Given the description of an element on the screen output the (x, y) to click on. 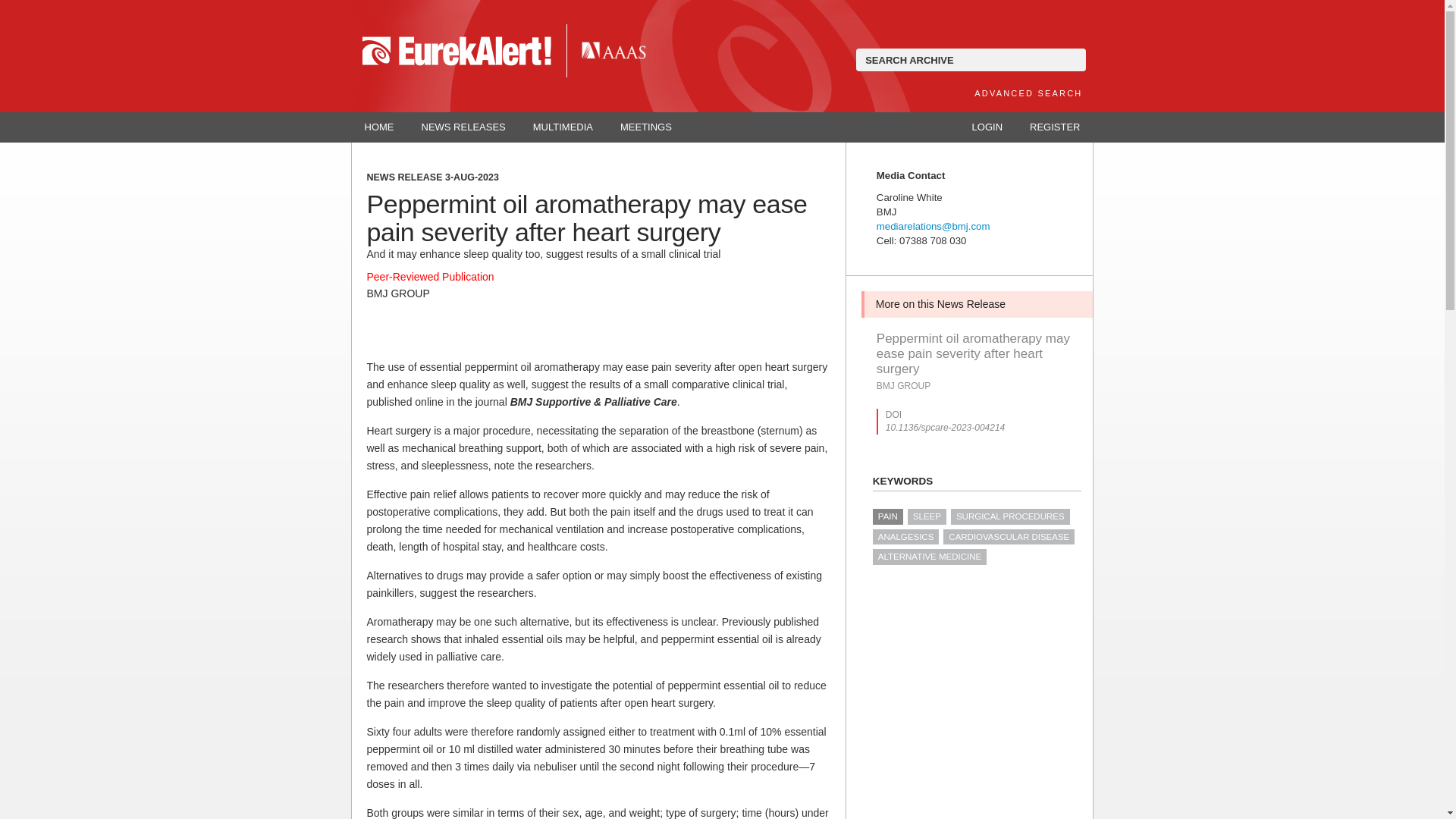
MEETINGS (646, 127)
LOGIN (987, 127)
HOME (378, 127)
NEWS RELEASES (463, 127)
ALTERNATIVE MEDICINE (929, 556)
SLEEP (926, 516)
CARDIOVASCULAR DISEASE (1008, 536)
Peer-Reviewed Publication (430, 276)
ANALGESICS (905, 536)
MULTIMEDIA (563, 127)
SURGICAL PROCEDURES (1010, 516)
ADVANCED SEARCH (1027, 92)
PAIN (887, 516)
REGISTER (1054, 127)
